Given the description of an element on the screen output the (x, y) to click on. 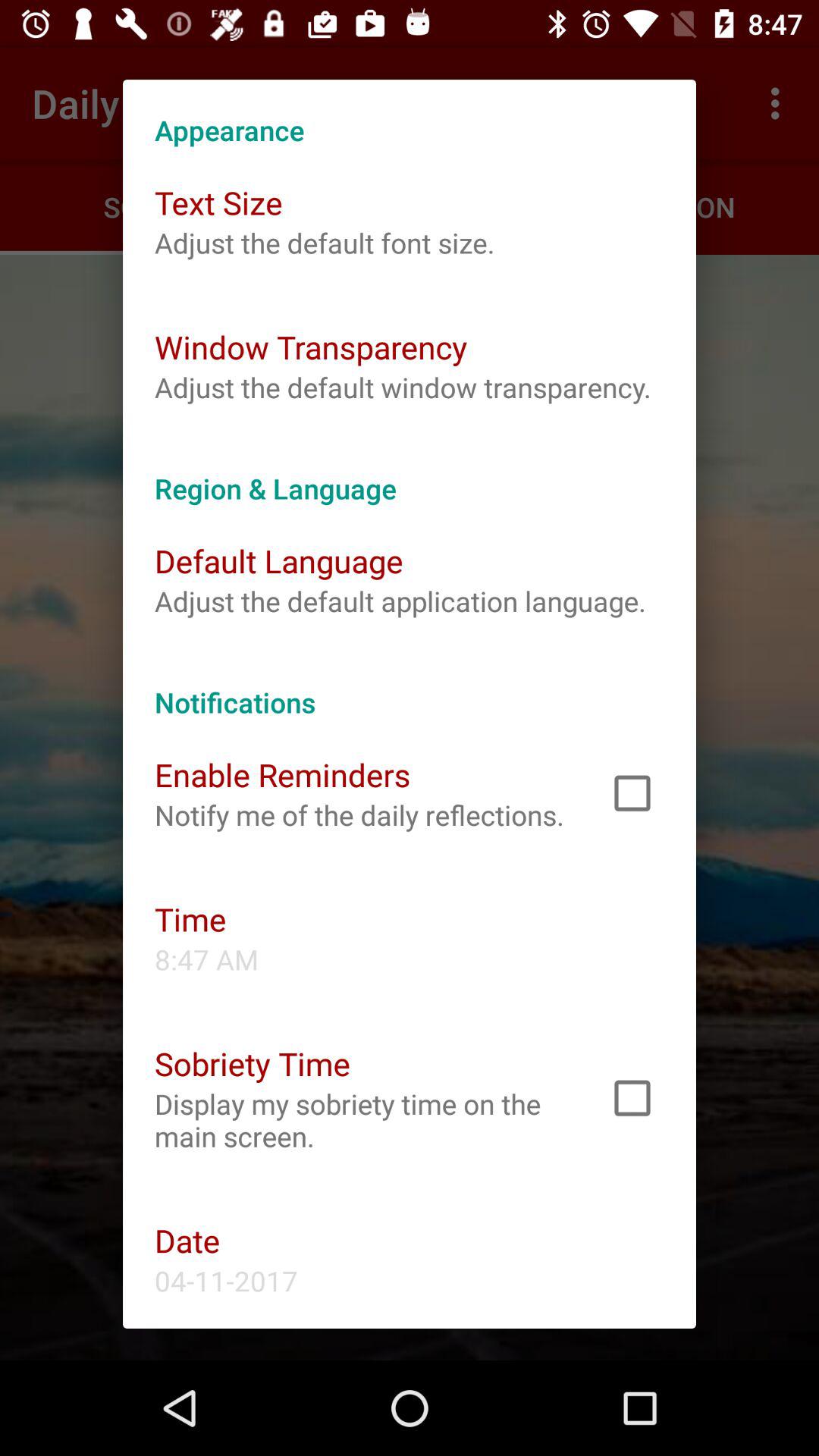
turn on the text size (218, 202)
